Given the description of an element on the screen output the (x, y) to click on. 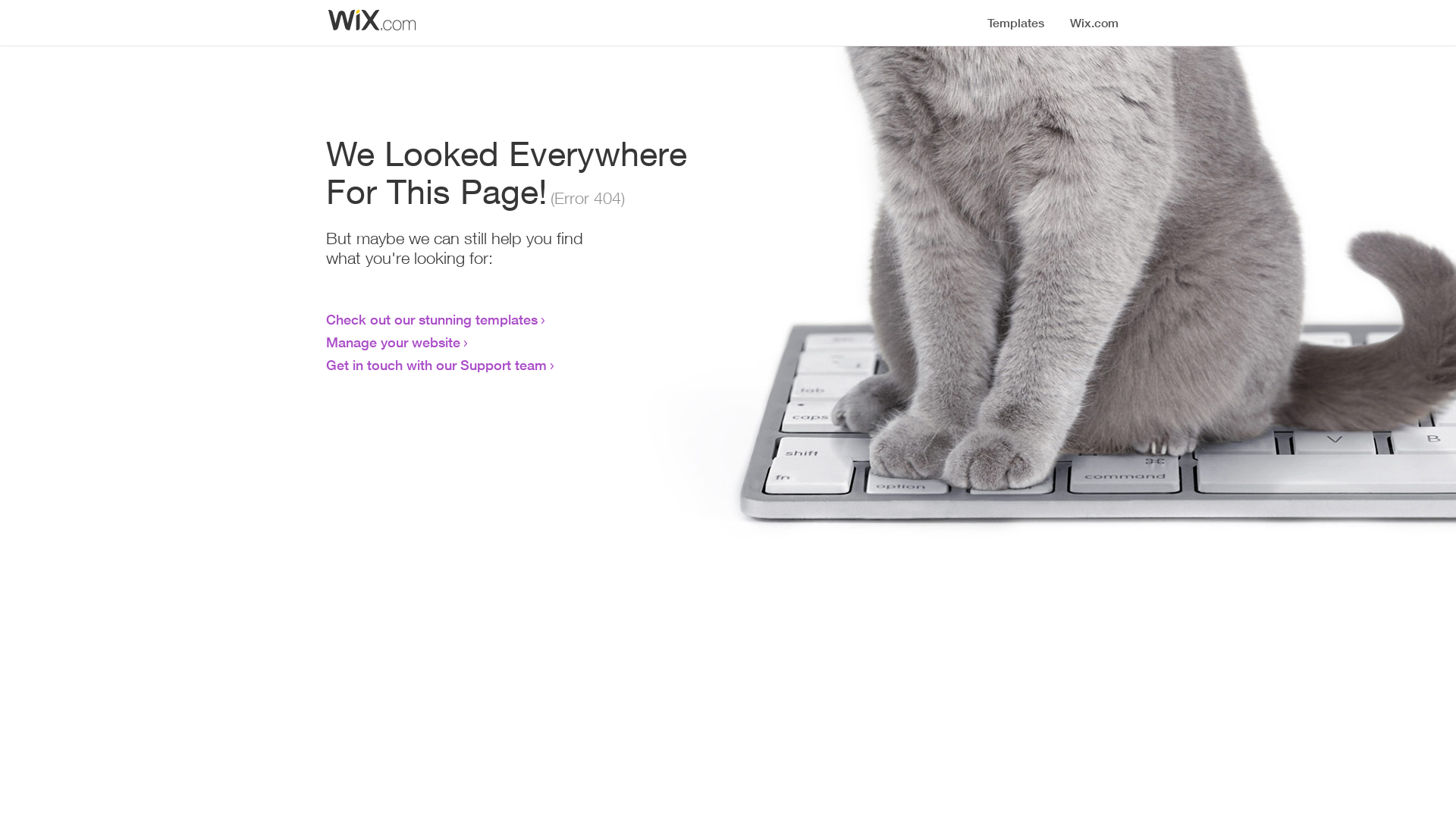
Get in touch with our Support team Element type: text (436, 364)
Manage your website Element type: text (393, 341)
Check out our stunning templates Element type: text (431, 318)
